Given the description of an element on the screen output the (x, y) to click on. 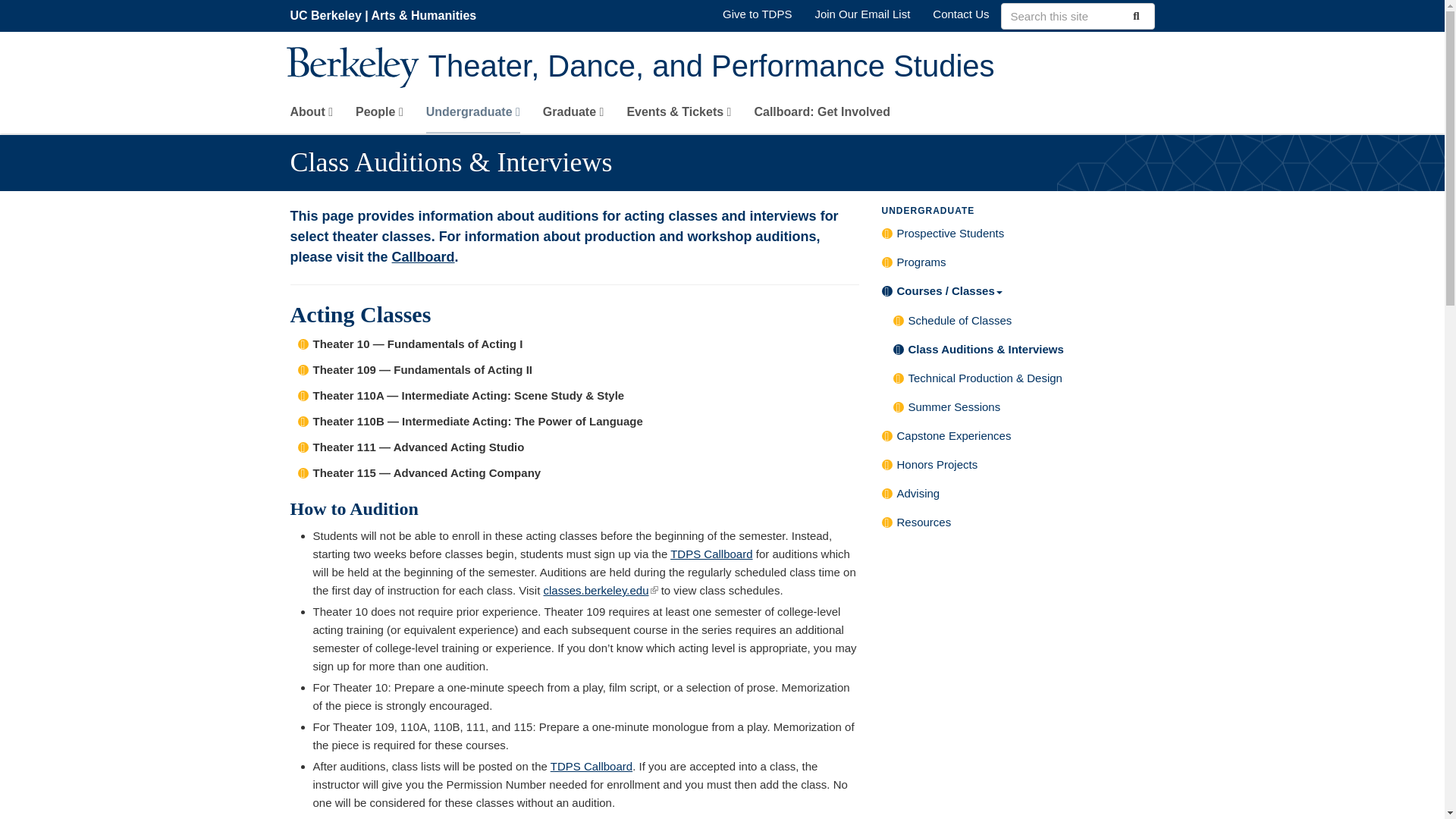
Submit Search (1133, 15)
UC Berkeley (325, 15)
About (311, 115)
Undergraduate (472, 115)
People (379, 115)
Theater, Dance, and Performance Studies (791, 67)
Home (791, 67)
